Given the description of an element on the screen output the (x, y) to click on. 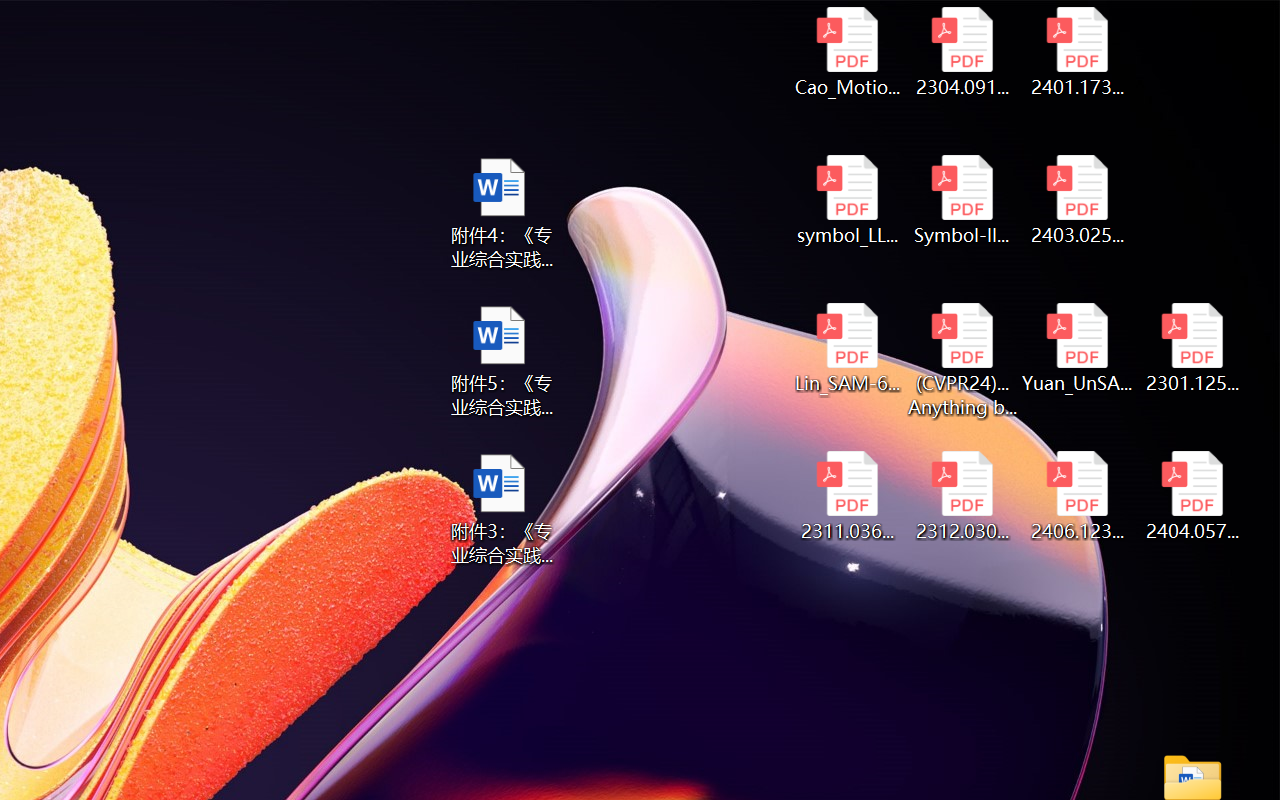
2312.03032v2.pdf (962, 496)
2311.03658v2.pdf (846, 496)
Symbol-llm-v2.pdf (962, 200)
2406.12373v2.pdf (1077, 496)
2301.12597v3.pdf (1192, 348)
symbol_LLM.pdf (846, 200)
(CVPR24)Matching Anything by Segmenting Anything.pdf (962, 360)
2404.05719v1.pdf (1192, 496)
2304.09121v3.pdf (962, 52)
